Given the description of an element on the screen output the (x, y) to click on. 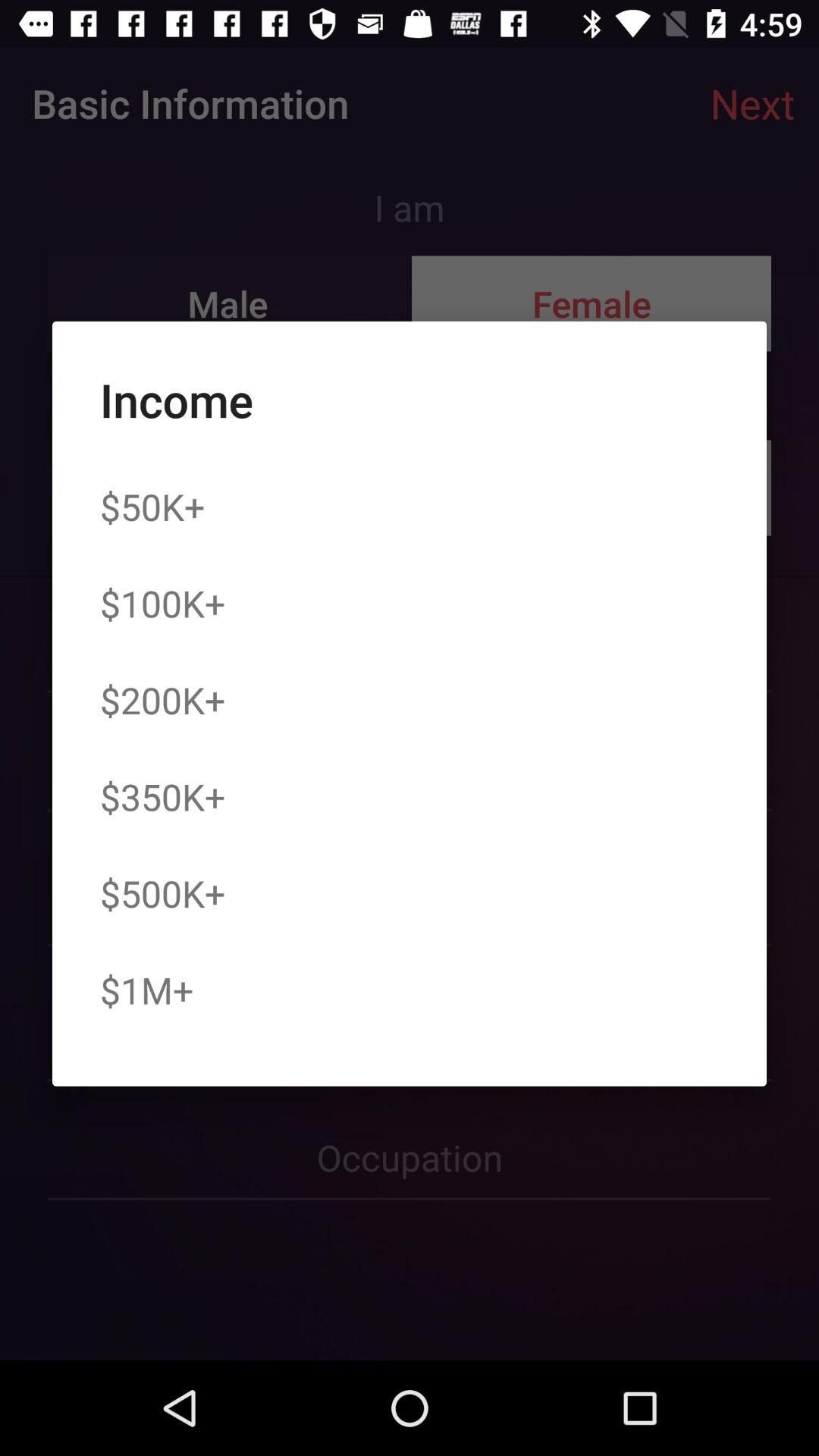
jump until the $500k+ (162, 893)
